Given the description of an element on the screen output the (x, y) to click on. 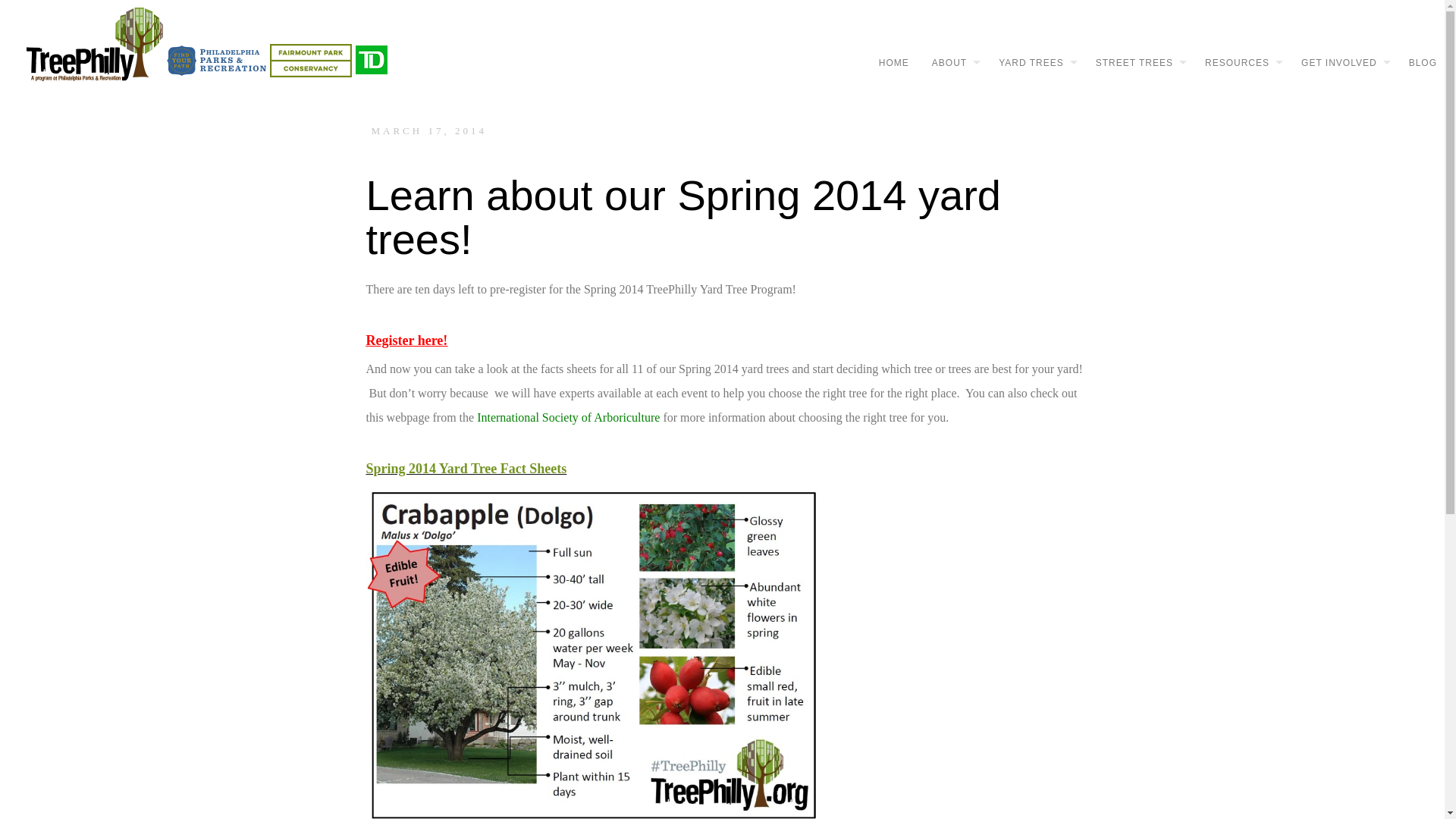
STREET TREES (1133, 62)
BLOG (1417, 62)
YARD TREES (1030, 62)
GET INVOLVED (1338, 62)
ABOUT (947, 62)
HOME (887, 62)
RESOURCES (1235, 62)
